Given the description of an element on the screen output the (x, y) to click on. 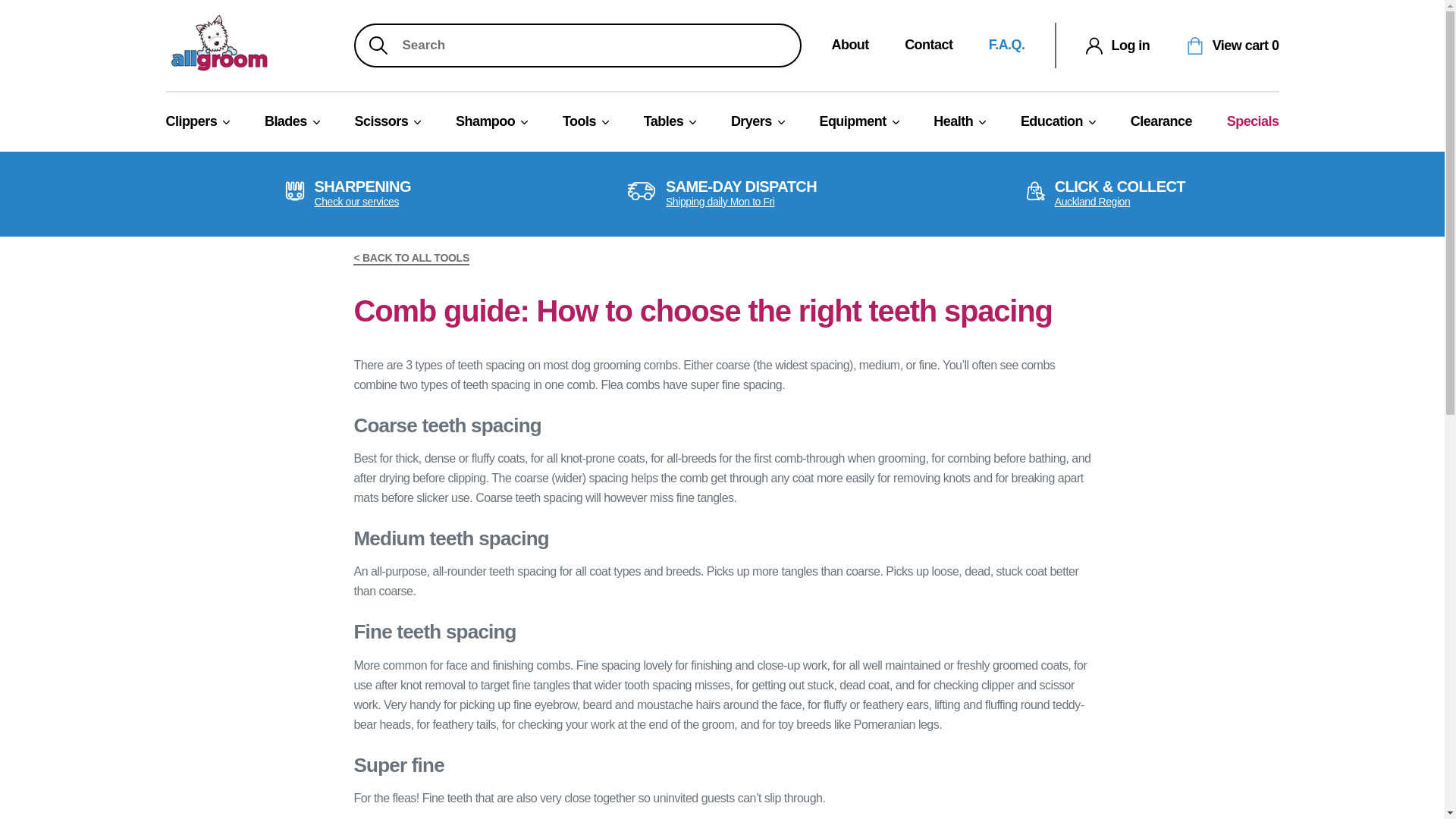
Contact (928, 44)
About (849, 44)
F.A.Q. (1006, 44)
Log in (1118, 45)
View cart 0 (1232, 45)
